Given the description of an element on the screen output the (x, y) to click on. 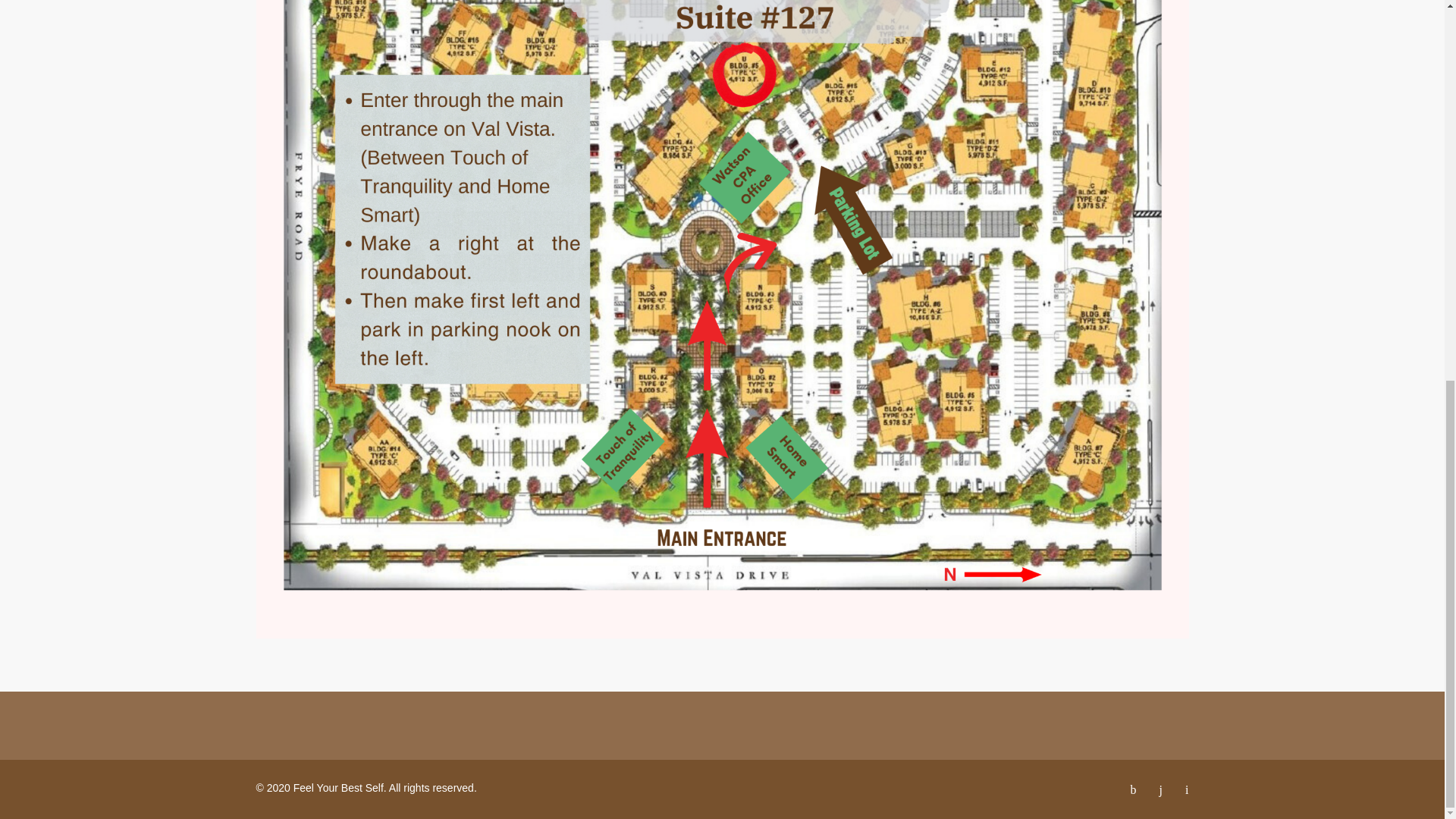
Feel Your Best Self (339, 787)
